Given the description of an element on the screen output the (x, y) to click on. 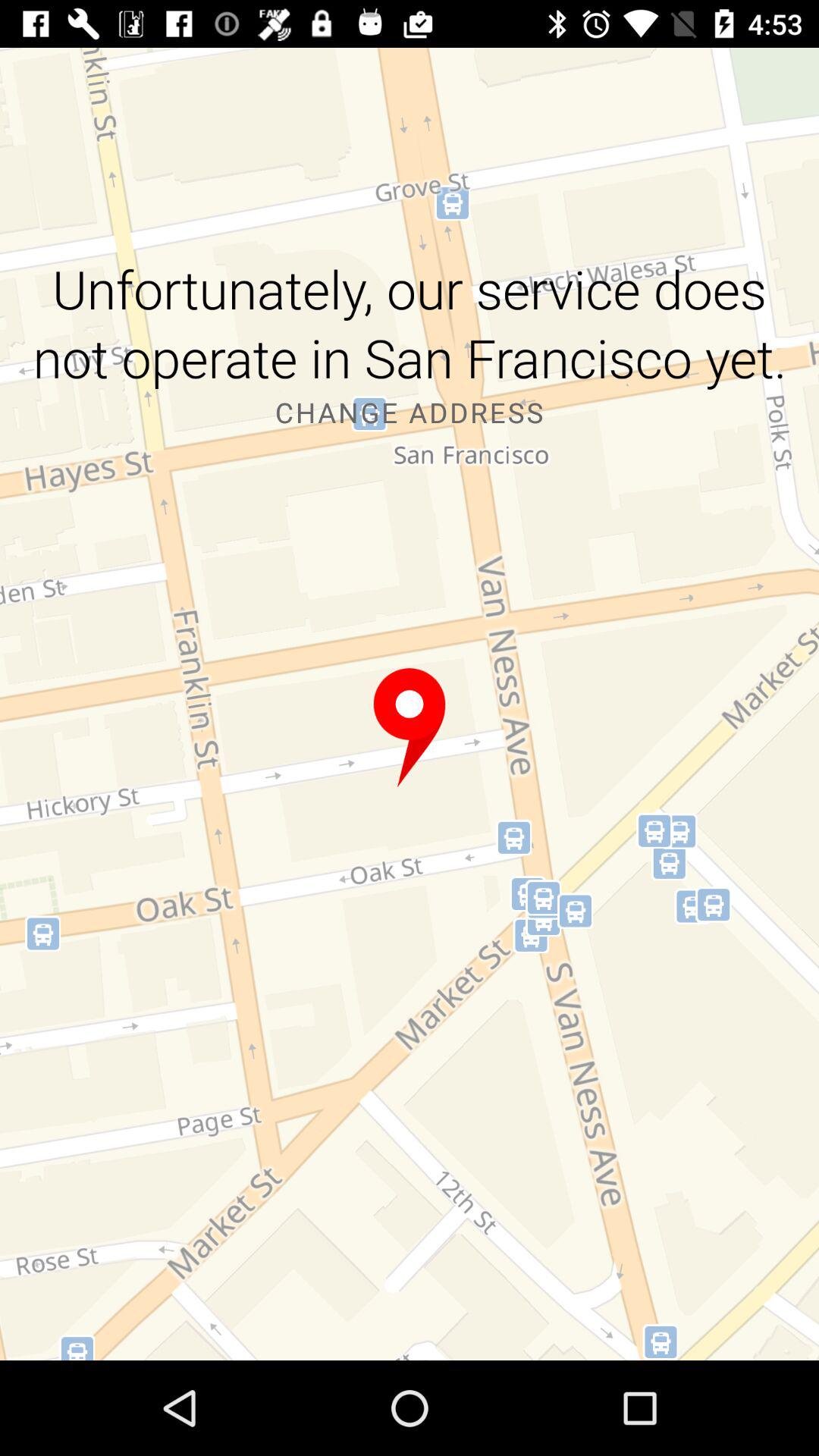
search place (409, 727)
